Given the description of an element on the screen output the (x, y) to click on. 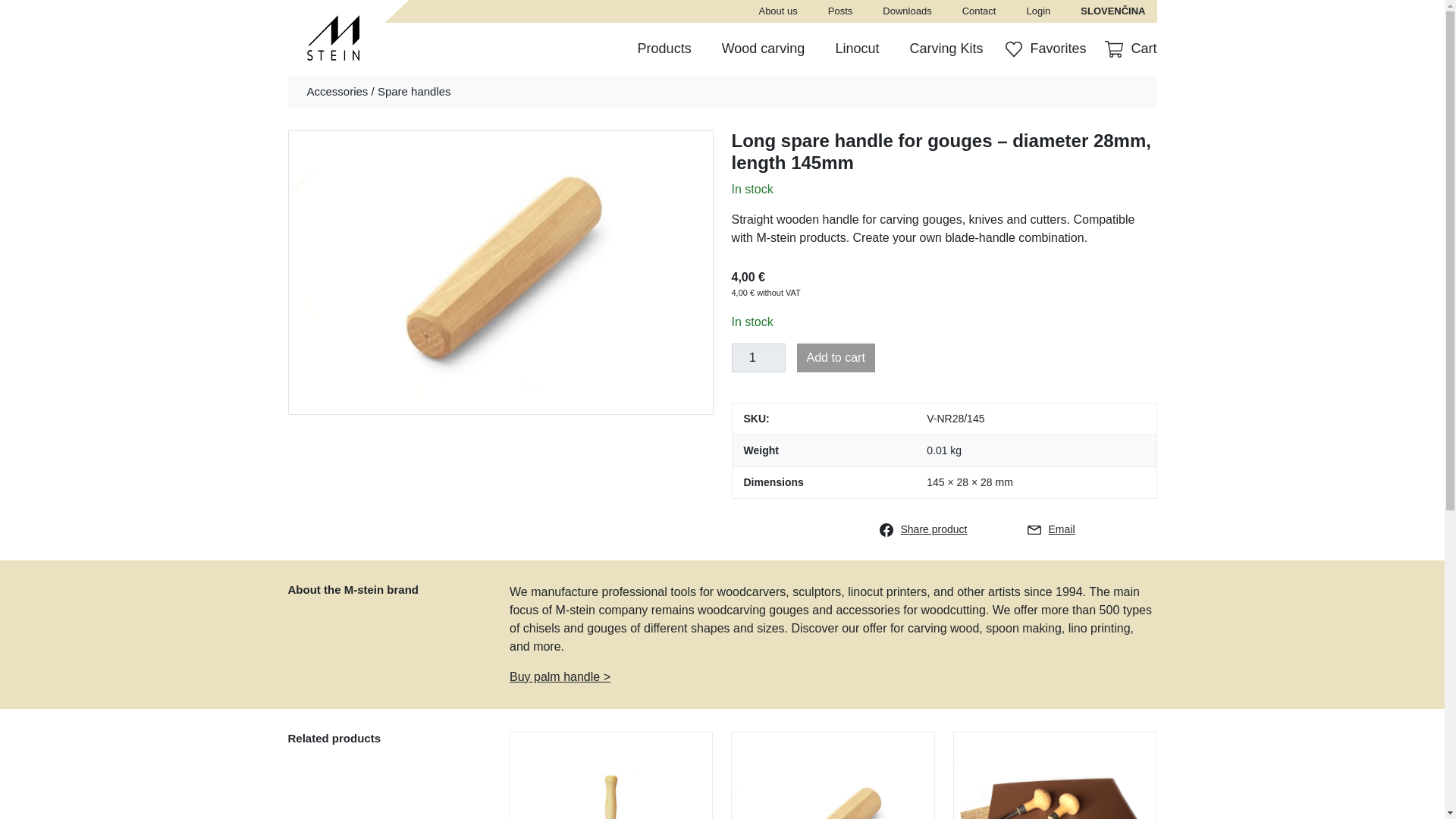
1 (757, 357)
Login (1037, 10)
Downloads (906, 10)
Long spare handle for gouges - diameter 28mm (500, 272)
Qty (757, 357)
View your shopping cart (1126, 48)
Wood carving (763, 48)
About us (777, 10)
Carving Kits (945, 48)
Contact (978, 10)
